Given the description of an element on the screen output the (x, y) to click on. 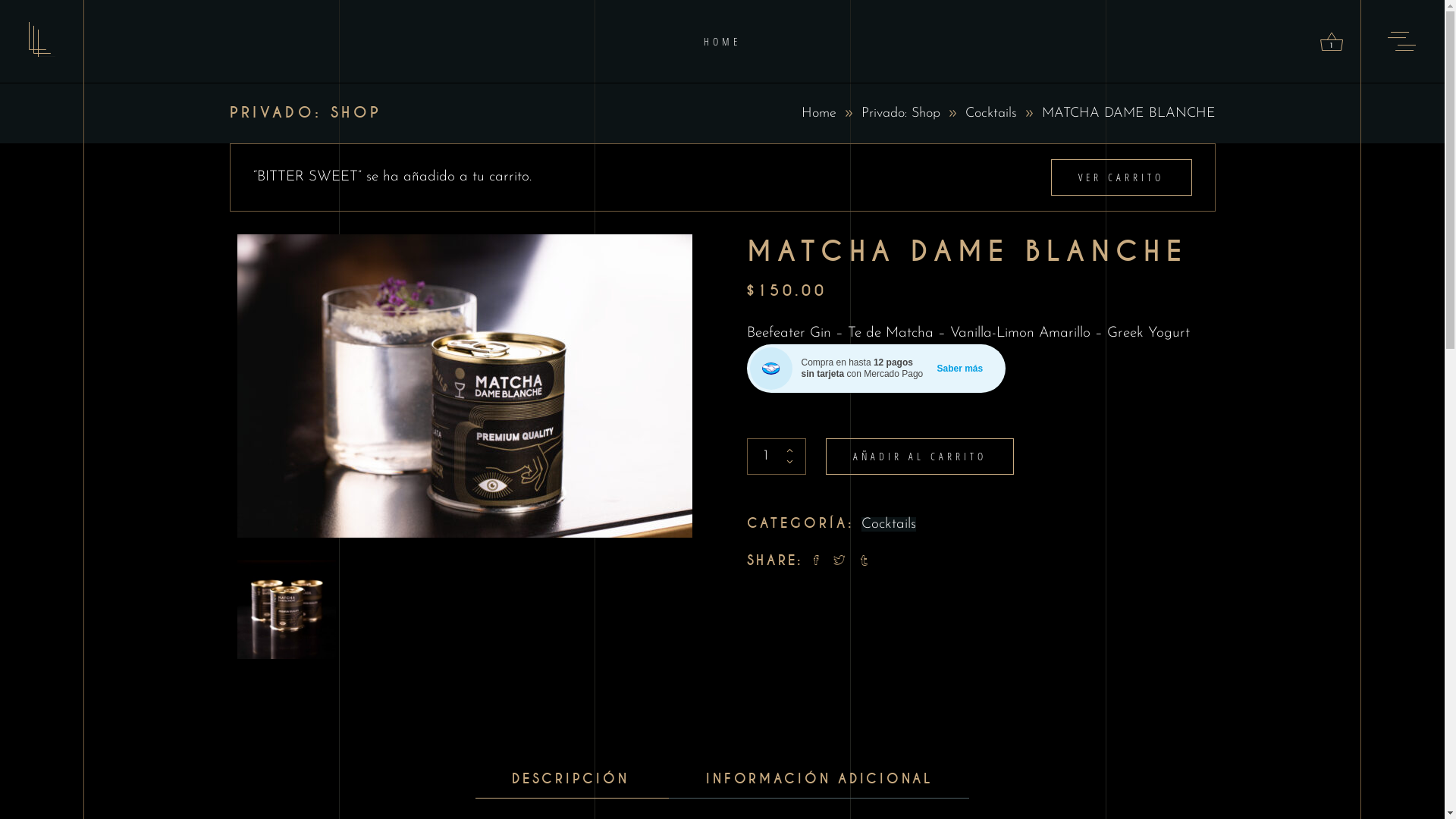
Cocktails Element type: text (888, 524)
VER CARRITO Element type: text (1121, 177)
HOME Element type: text (722, 41)
IMG_5403 Element type: hover (463, 385)
Privado: Shop Element type: text (900, 113)
Cocktails Element type: text (990, 113)
1 Element type: text (1331, 41)
Home Element type: text (817, 113)
Qty Element type: hover (765, 456)
IMG_6005 Element type: hover (285, 609)
